Given the description of an element on the screen output the (x, y) to click on. 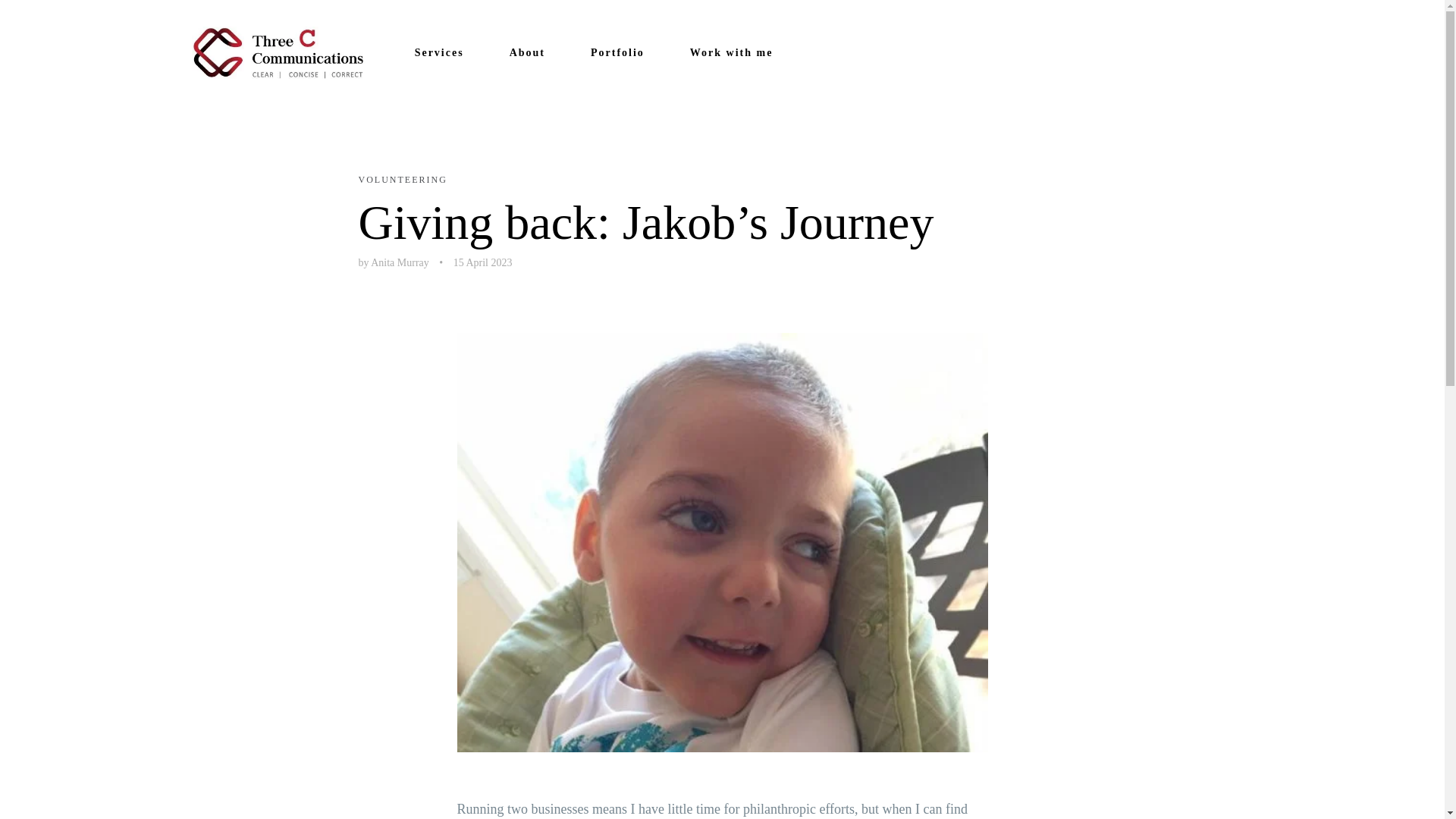
7:08 pm (482, 262)
15 April 2023 (482, 262)
Work with me (731, 53)
Anita Murray (400, 262)
View all posts by Anita Murray (400, 262)
Portfolio (617, 53)
VOLUNTEERING (402, 179)
Three C Communications (277, 52)
Services (439, 53)
About (527, 53)
